Given the description of an element on the screen output the (x, y) to click on. 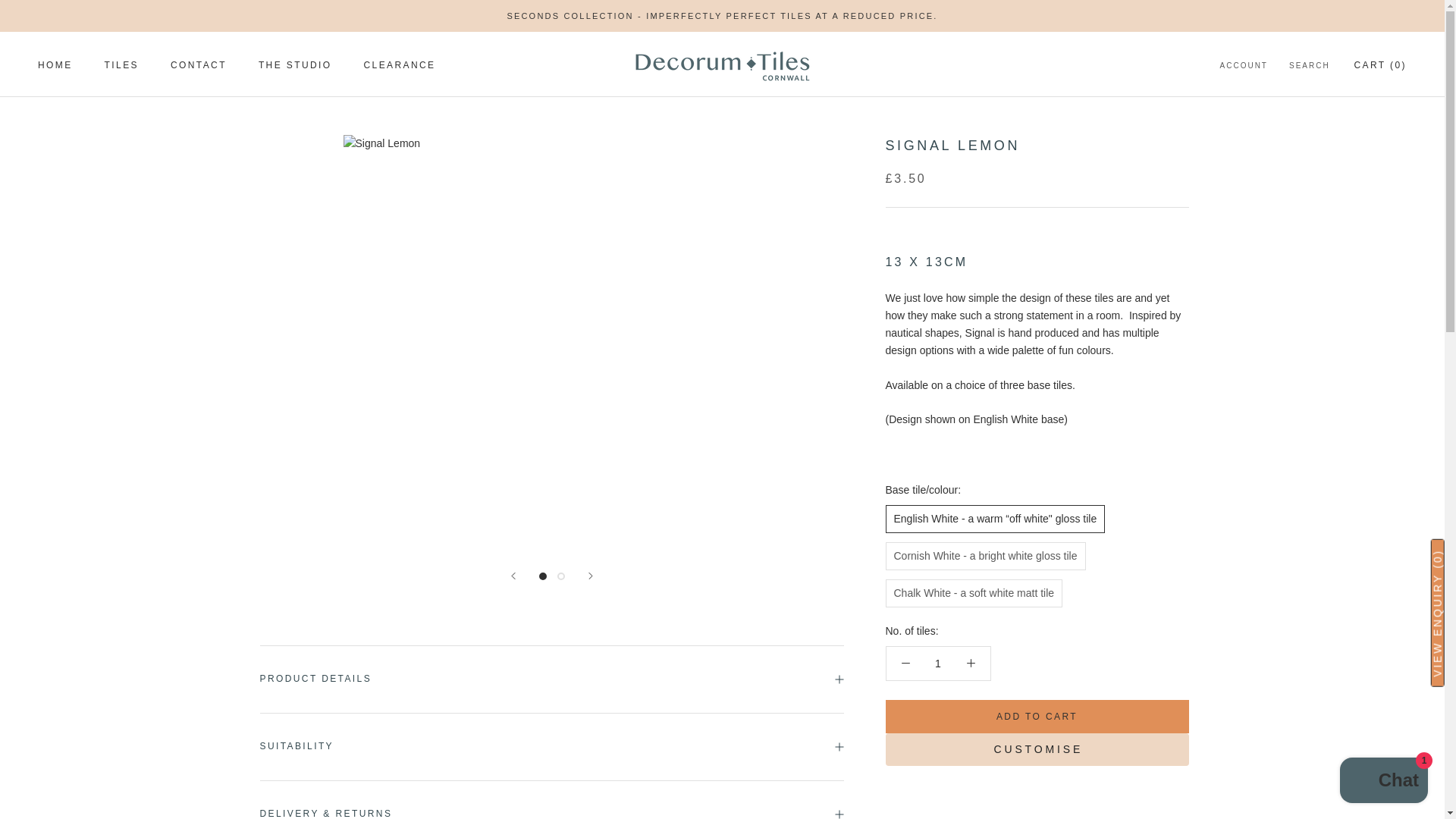
1 (938, 663)
Shopify online store chat (1383, 781)
